Given the description of an element on the screen output the (x, y) to click on. 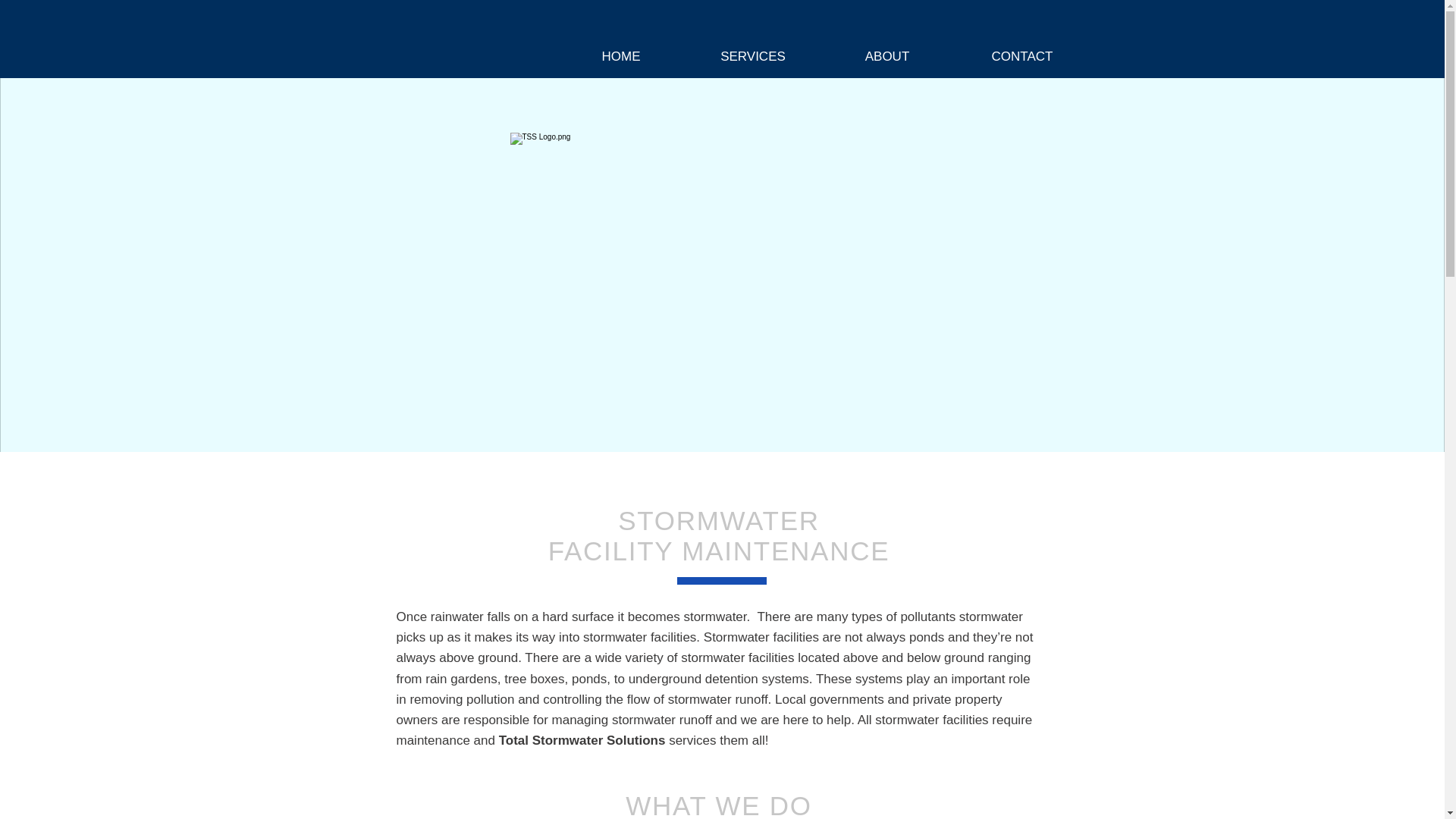
SERVICES (753, 56)
ABOUT (887, 56)
CONTACT (1022, 56)
HOME (620, 56)
